Given the description of an element on the screen output the (x, y) to click on. 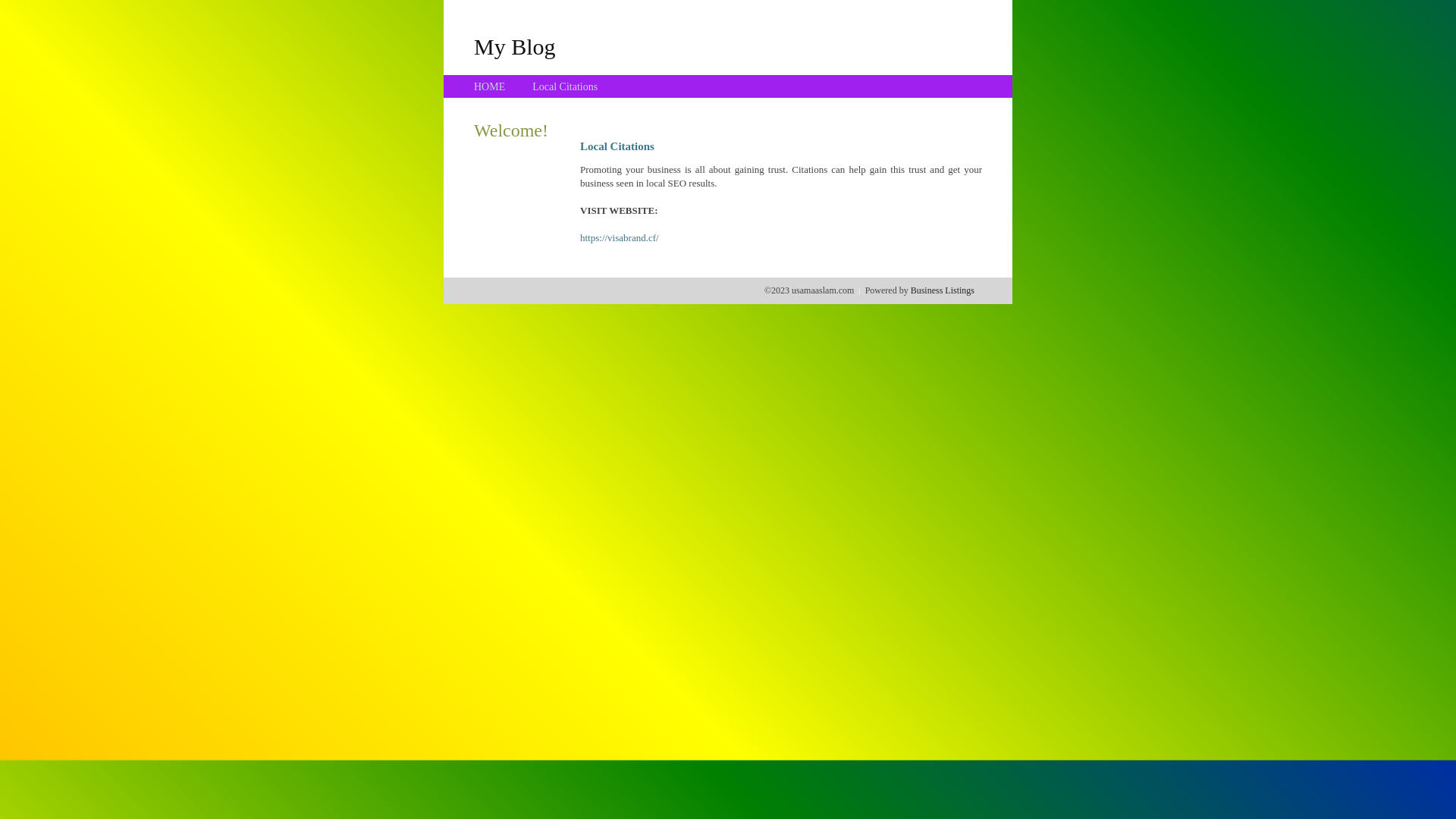
My Blog Element type: text (514, 46)
https://visabrand.cf/ Element type: text (619, 237)
Local Citations Element type: text (564, 86)
HOME Element type: text (489, 86)
Business Listings Element type: text (942, 290)
